Given the description of an element on the screen output the (x, y) to click on. 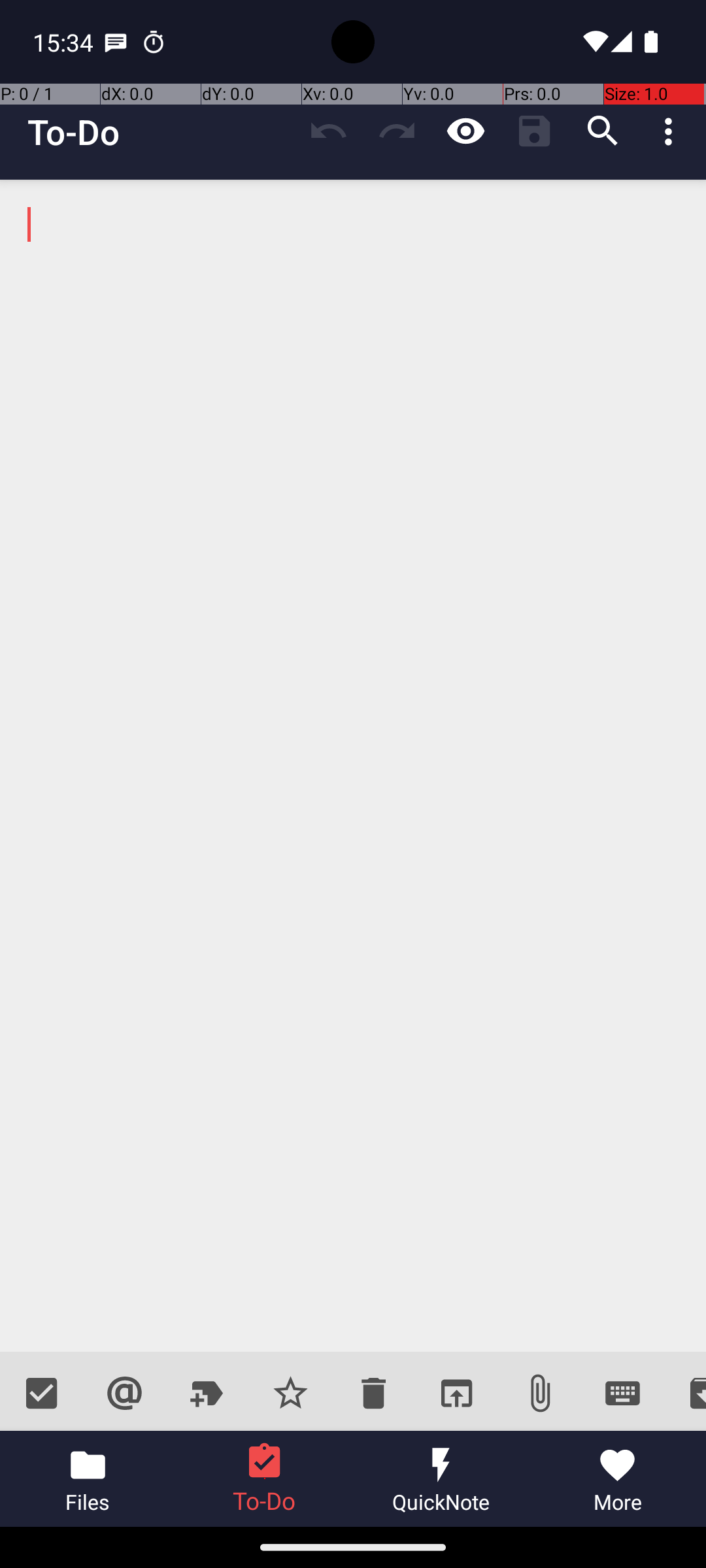
SMS Messenger notification: Emily Ibrahim Element type: android.widget.ImageView (115, 41)
